Given the description of an element on the screen output the (x, y) to click on. 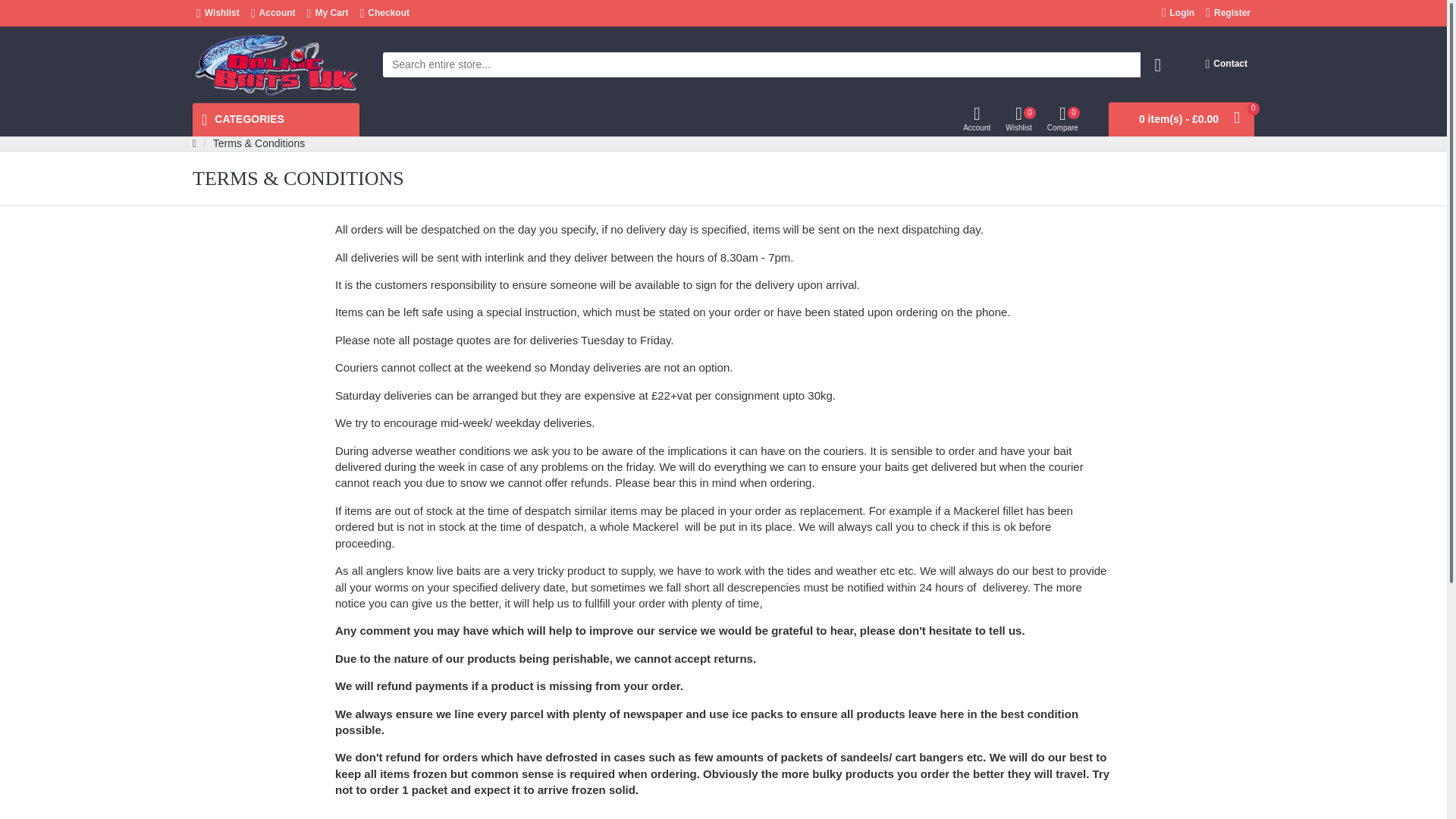
Account (273, 13)
Login (1177, 13)
Checkout (384, 13)
Register (1227, 13)
Wishlist (217, 13)
Online Baits UK (275, 64)
My Cart (327, 13)
Contact (1225, 63)
CATEGORIES (275, 119)
